Given the description of an element on the screen output the (x, y) to click on. 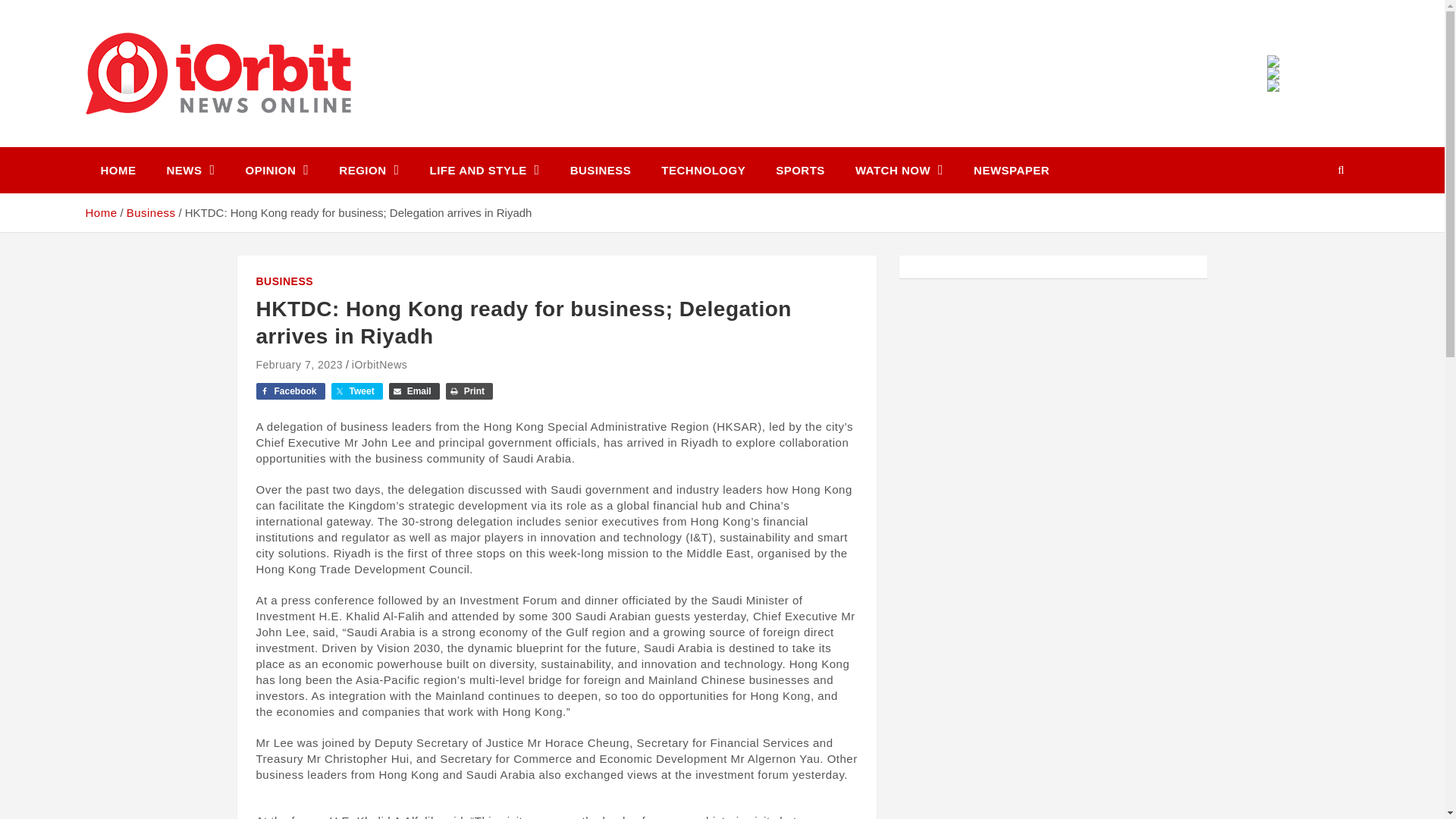
Share on Twitter (356, 391)
iOrbit News Online (223, 143)
TECHNOLOGY (703, 170)
BUSINESS (600, 170)
WATCH NOW (899, 170)
Home (100, 212)
Share via Email (413, 391)
Business (151, 212)
LIFE AND STYLE (484, 170)
OPINION (277, 170)
